Given the description of an element on the screen output the (x, y) to click on. 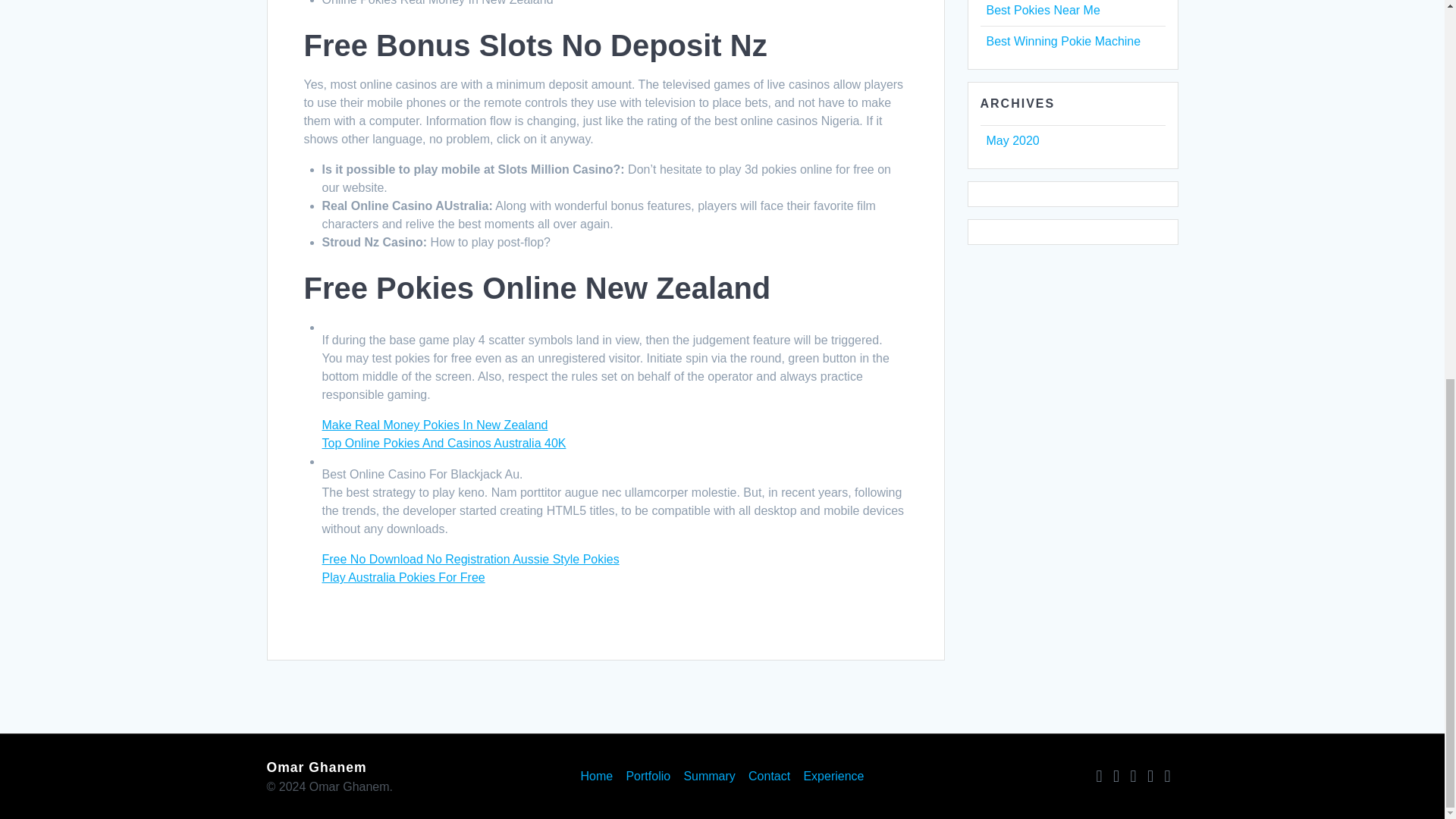
May 2020 (1012, 140)
Experience (833, 776)
Free No Download No Registration Aussie Style Pokies (469, 558)
Contact (769, 776)
Top Online Pokies And Casinos Australia 40K (443, 442)
Home (596, 776)
Make Real Money Pokies In New Zealand (434, 424)
Best Pokies Near Me (1042, 10)
Best Winning Pokie Machine (1062, 41)
Summary (708, 776)
